Given the description of an element on the screen output the (x, y) to click on. 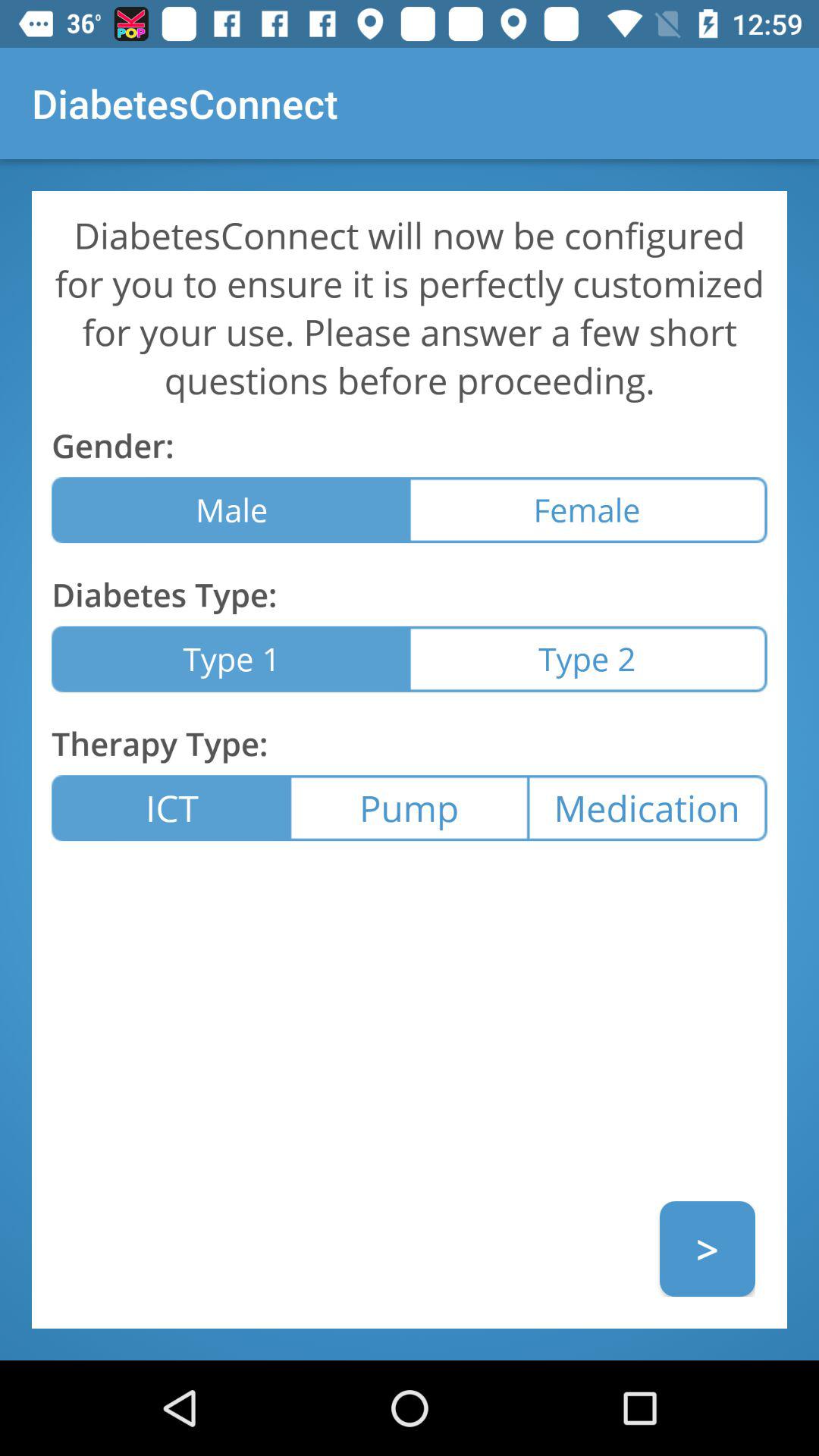
press item below the diabetes type: item (230, 659)
